Given the description of an element on the screen output the (x, y) to click on. 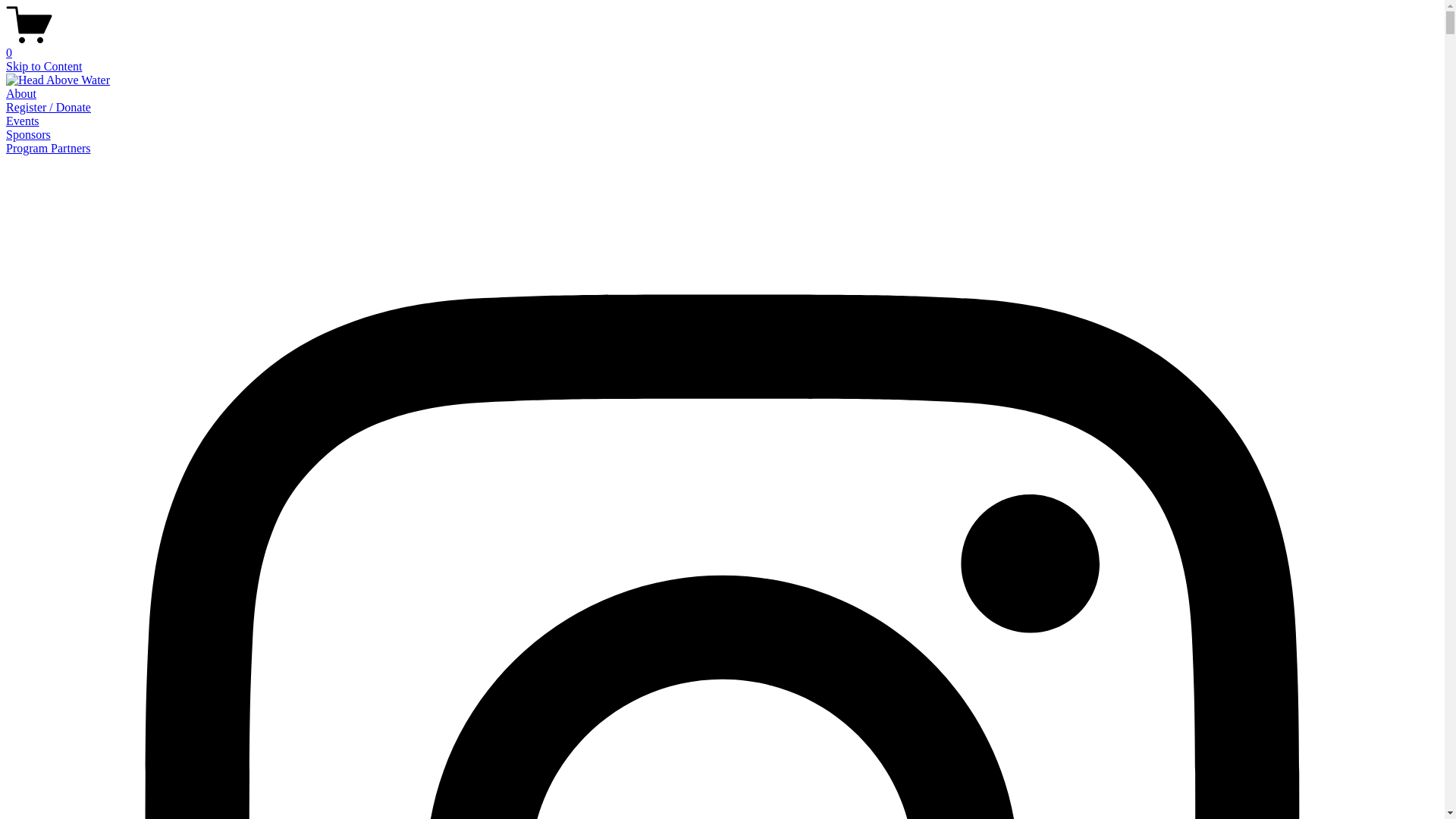
Register / Donate Element type: text (48, 106)
0 Element type: text (722, 45)
Sponsors Element type: text (28, 134)
Program Partners Element type: text (48, 147)
Skip to Content Element type: text (43, 65)
Events Element type: text (22, 120)
About Element type: text (21, 93)
